Given the description of an element on the screen output the (x, y) to click on. 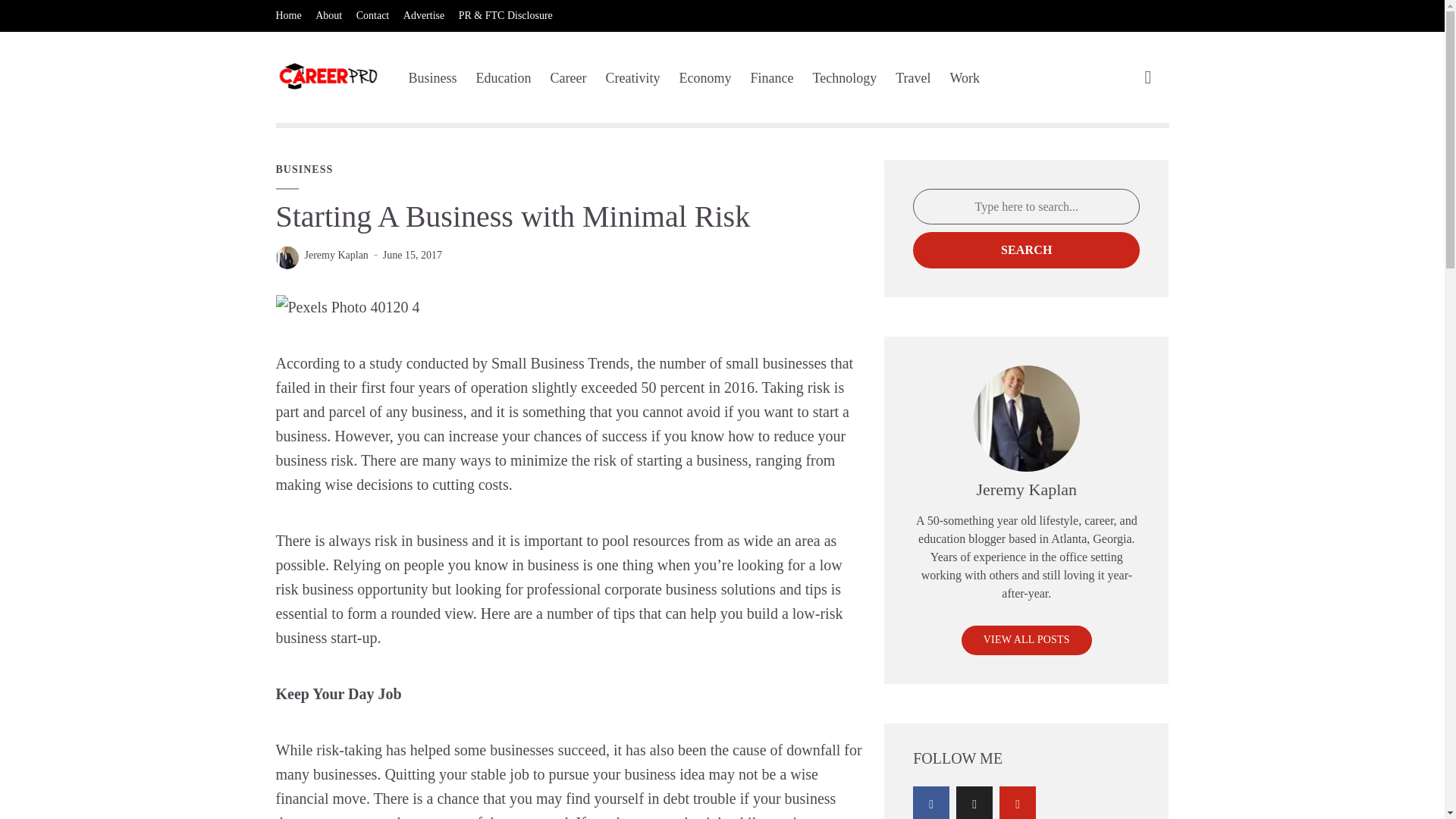
Economy (704, 77)
Facebook (930, 802)
Jeremy Kaplan (336, 254)
Finance (771, 77)
Work (964, 77)
Education (503, 77)
Career (568, 77)
Travel (912, 77)
Home (288, 15)
Pinterest (1016, 802)
Starting A Business With Minimal Risk 1 (348, 306)
Technology (844, 77)
Business (432, 77)
BUSINESS (304, 169)
Advertise (423, 15)
